Given the description of an element on the screen output the (x, y) to click on. 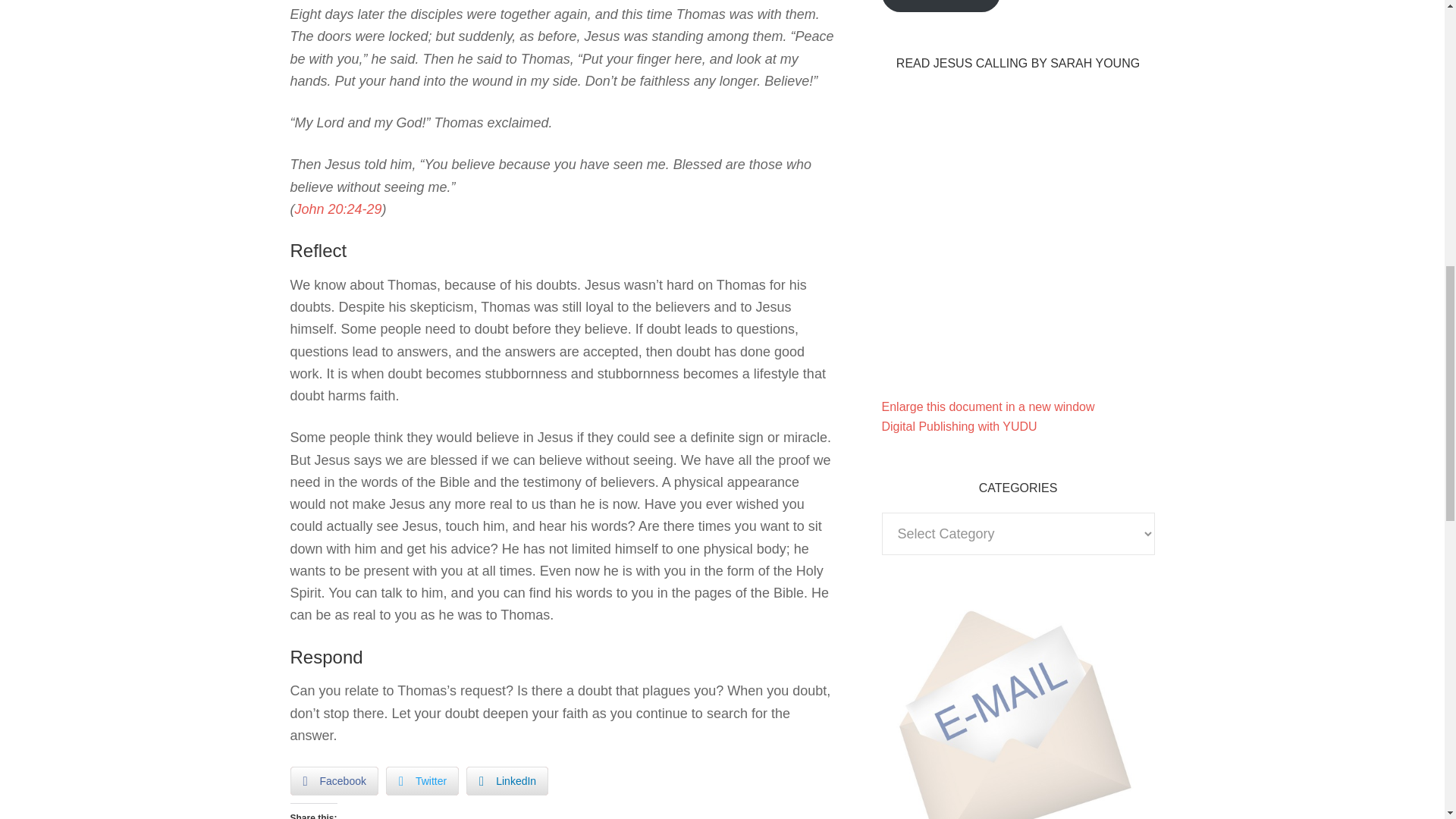
John 20:24-29 (337, 209)
Enlarge this document in a new window (987, 406)
SUBSCRIBE (939, 6)
Facebook (333, 780)
LinkedIn (506, 780)
Twitter (421, 780)
Digital Publishing with YUDU (958, 426)
